Given the description of an element on the screen output the (x, y) to click on. 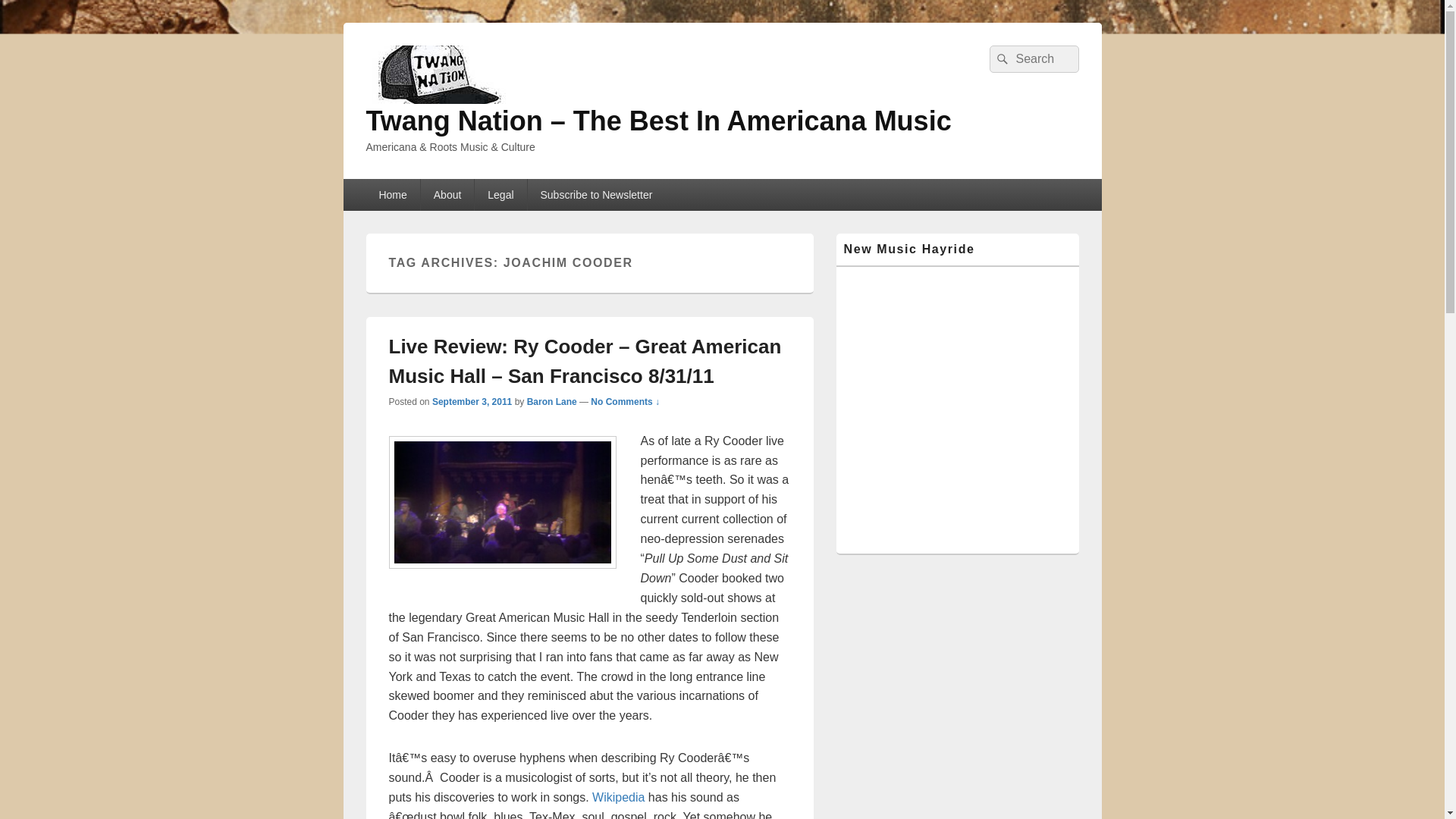
September 3, 2011 (472, 401)
Home (392, 194)
View all posts by Baron Lane (551, 401)
Subscribe to Newsletter (596, 194)
10:24 am (472, 401)
Legal (499, 194)
Wikipedia (618, 797)
About (447, 194)
Search for: (1033, 58)
Baron Lane (551, 401)
